Given the description of an element on the screen output the (x, y) to click on. 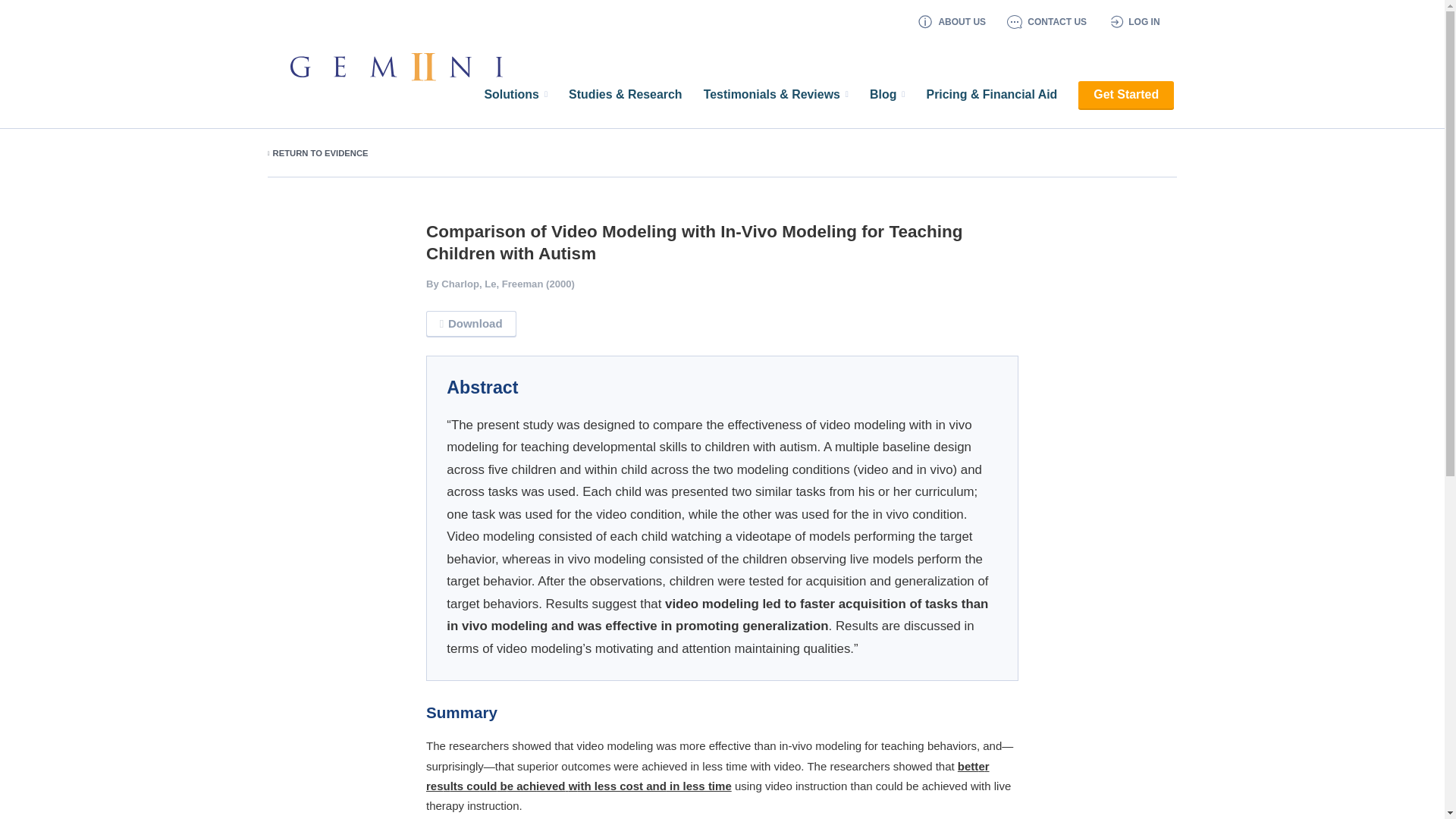
LOG IN (1138, 21)
RETURN TO EVIDENCE (317, 153)
Get Started (1125, 94)
Blog (886, 94)
Blog (886, 94)
Download (471, 323)
CONTACT US (1051, 21)
Gemiini Systems (384, 67)
Solutions (515, 94)
Solutions (515, 94)
